Given the description of an element on the screen output the (x, y) to click on. 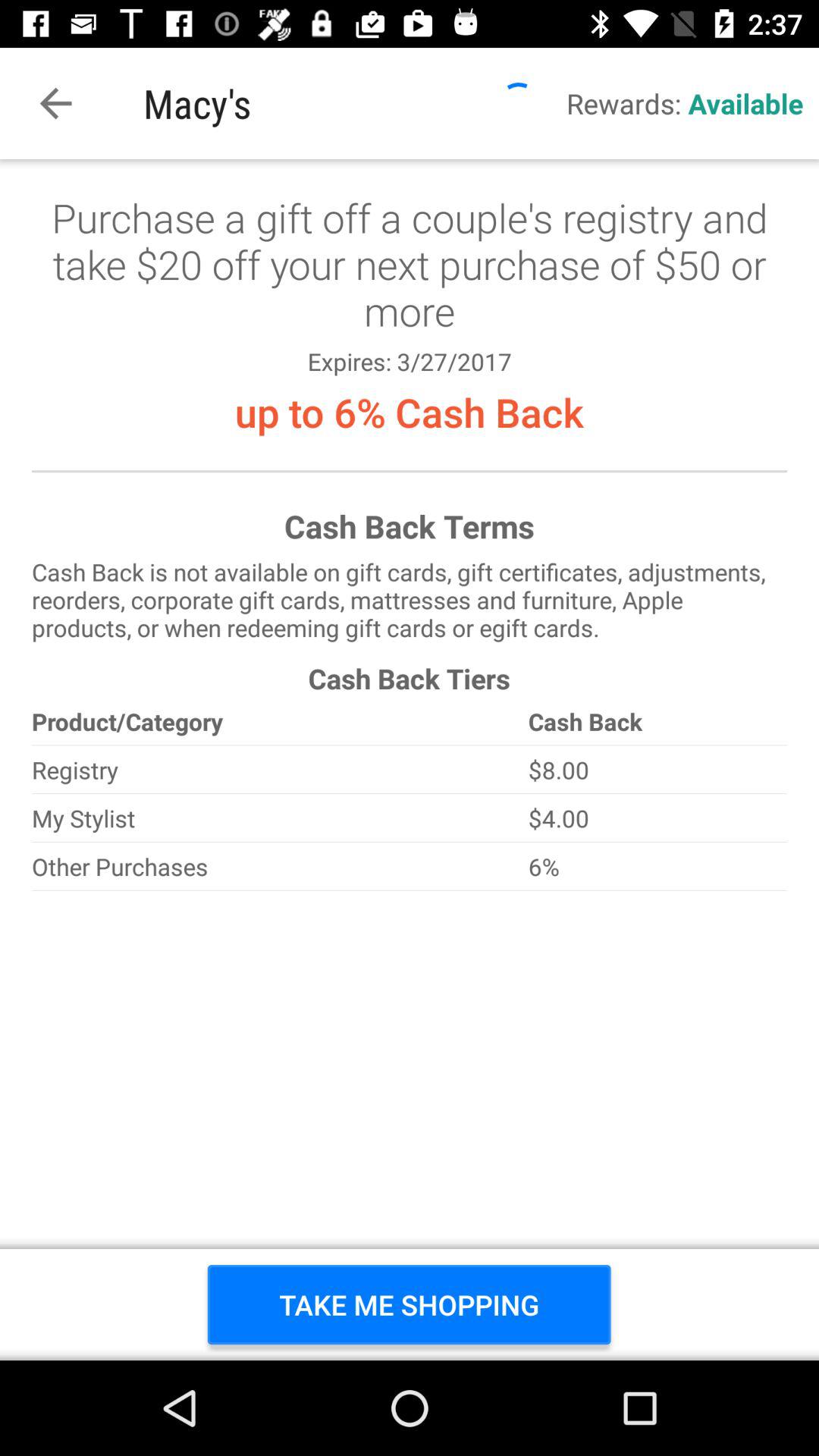
select item to the left of macy's item (55, 103)
